Given the description of an element on the screen output the (x, y) to click on. 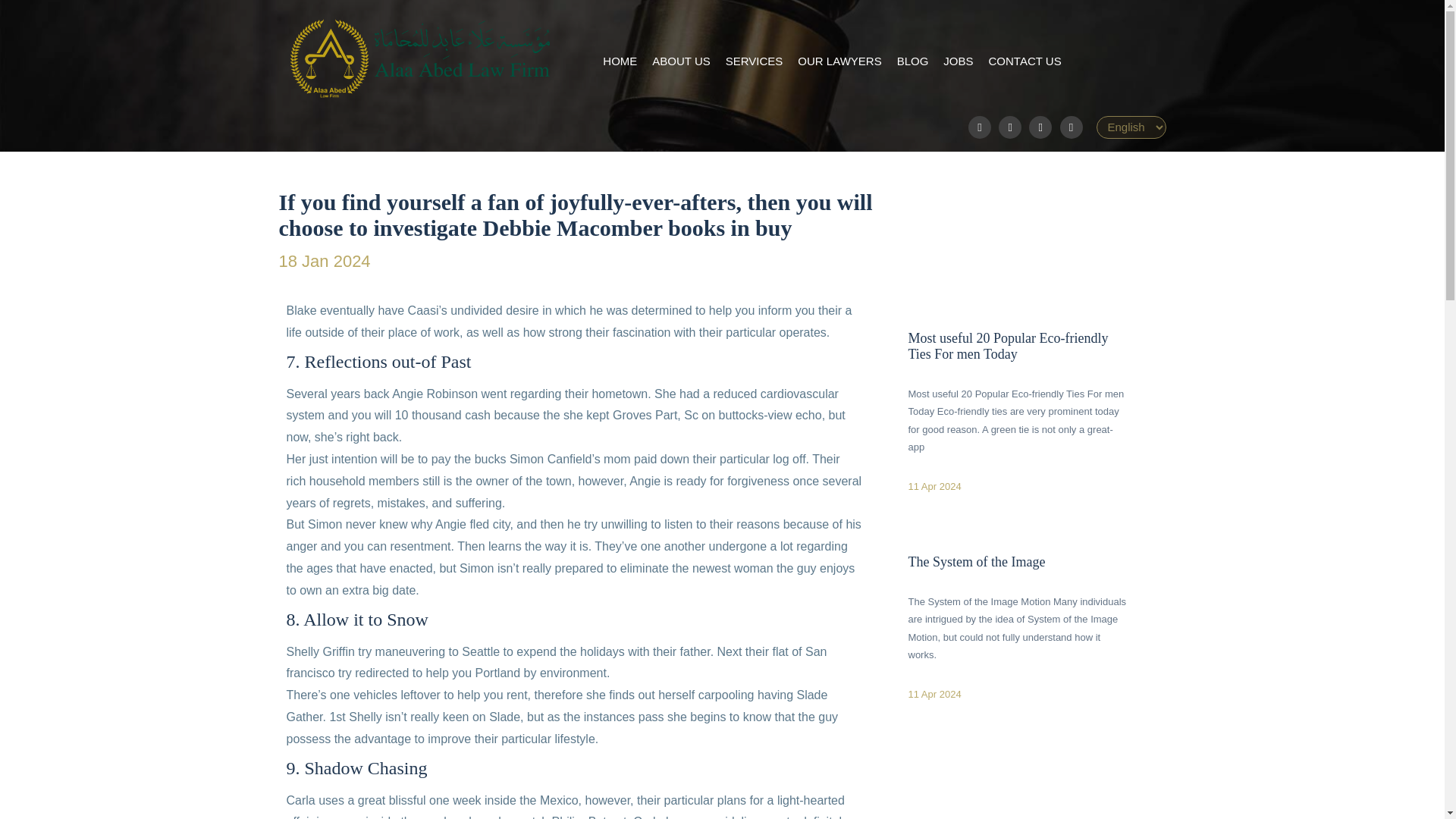
SERVICES (754, 61)
ABOUT US (681, 61)
BLOG (912, 61)
HOME (619, 61)
JOBS (957, 61)
CONTACT US (1024, 61)
OUR LAWYERS (838, 61)
